Given the description of an element on the screen output the (x, y) to click on. 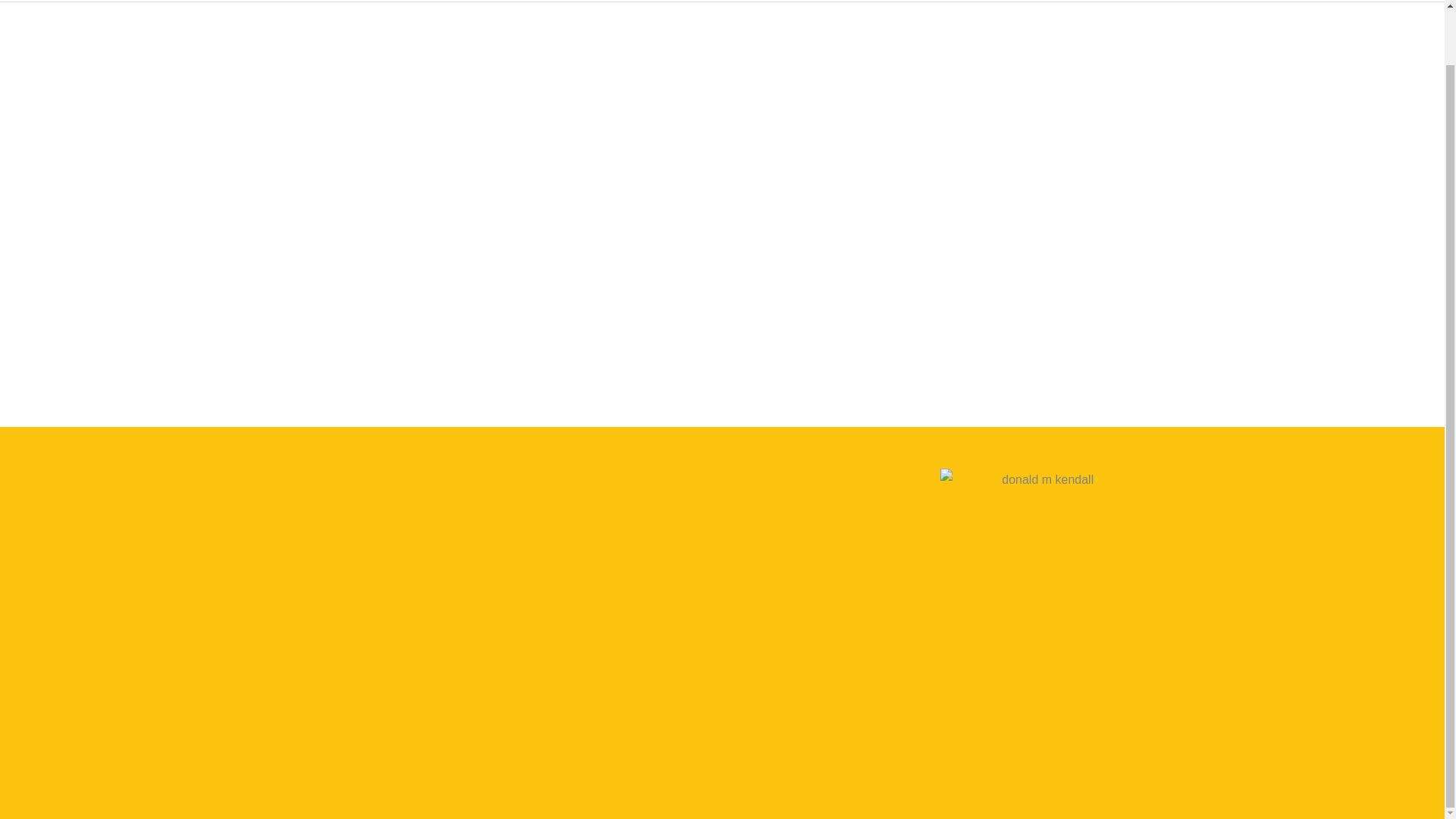
Our Services (1176, 0)
Contact (1348, 0)
Our Catalog (1083, 0)
Work with us (1269, 0)
